Given the description of an element on the screen output the (x, y) to click on. 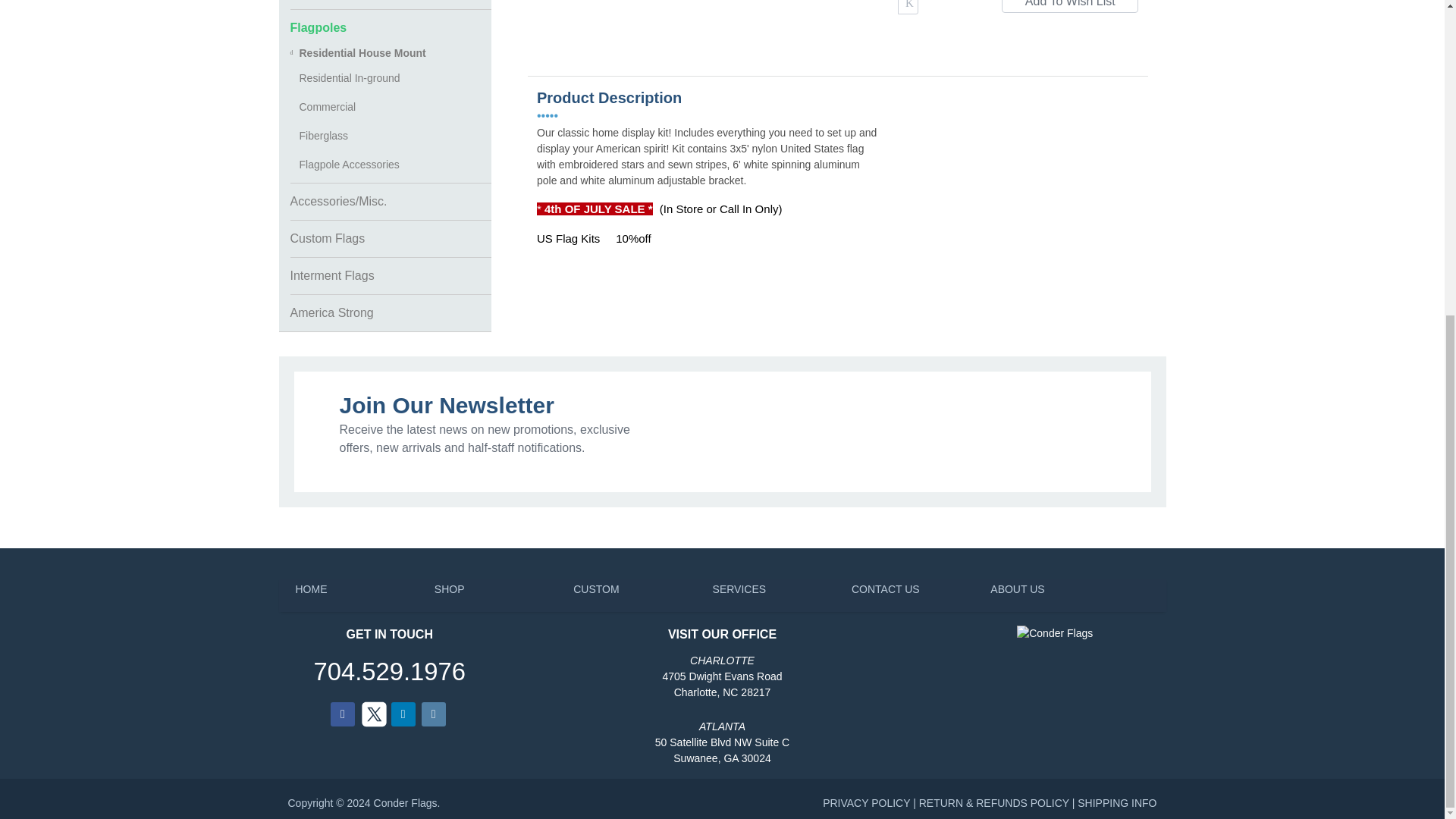
Facebook (342, 713)
Twitter (373, 713)
Add To Wish List (1069, 6)
Instagram (433, 713)
LinkedIn (402, 713)
Conder Flags (1054, 633)
